Given the description of an element on the screen output the (x, y) to click on. 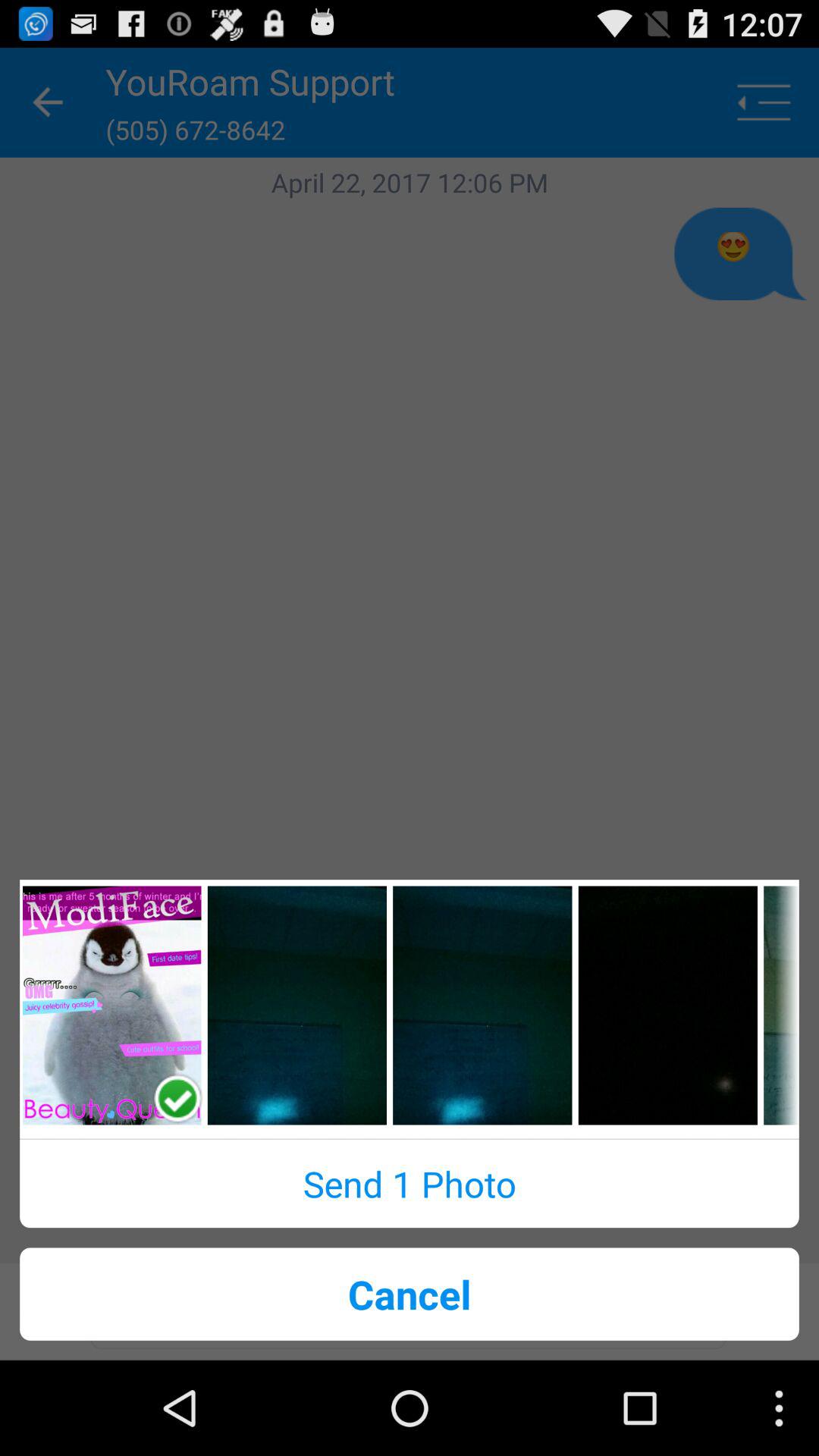
select picture (667, 1005)
